Given the description of an element on the screen output the (x, y) to click on. 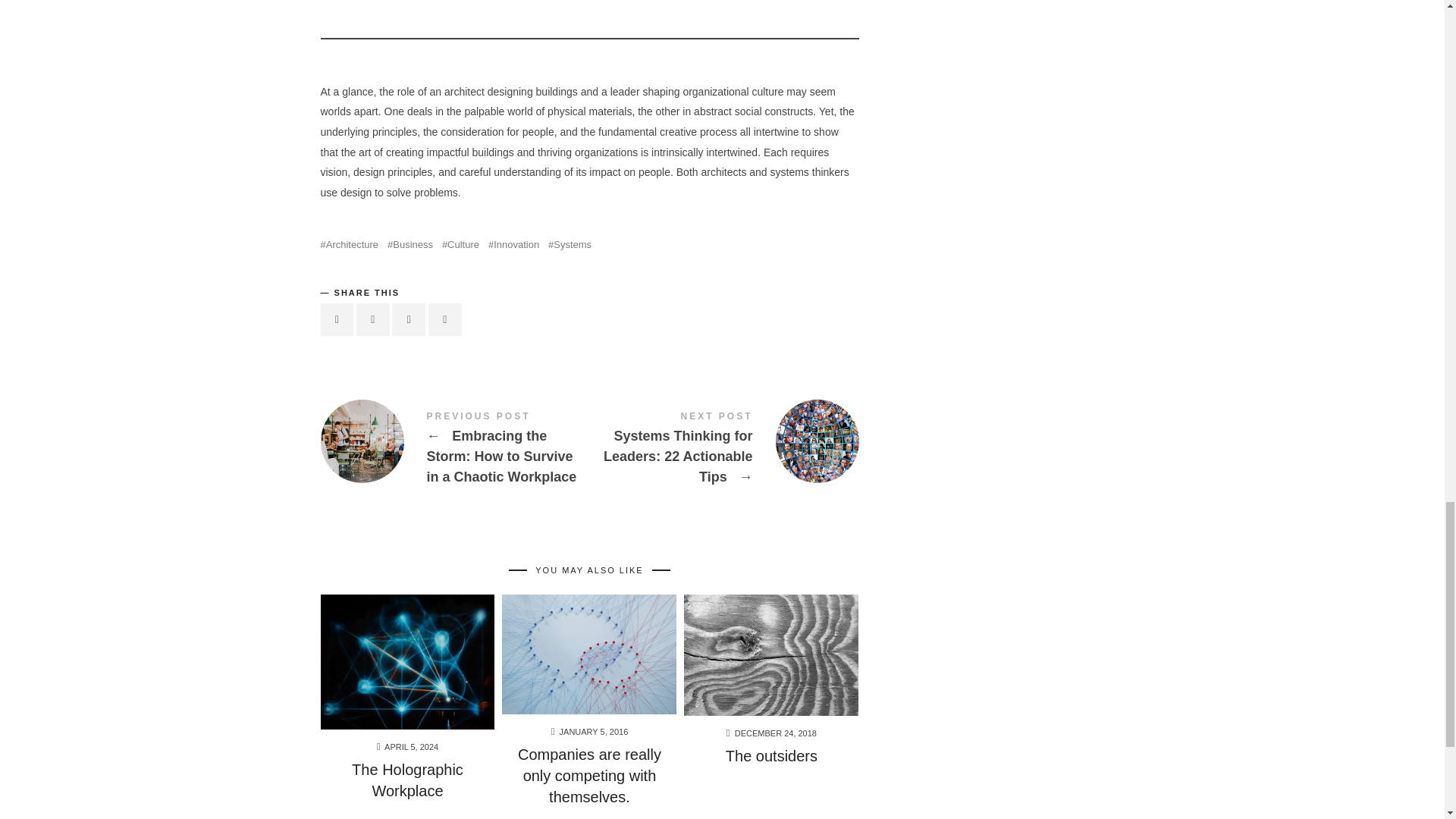
Systems (569, 244)
Culture (460, 244)
Innovation (512, 244)
Share this post on Facebook (336, 319)
Pin it (408, 319)
Business (409, 244)
Architecture (349, 244)
Tweet this post to your followers (373, 319)
Email this post to a friend (444, 319)
